Given the description of an element on the screen output the (x, y) to click on. 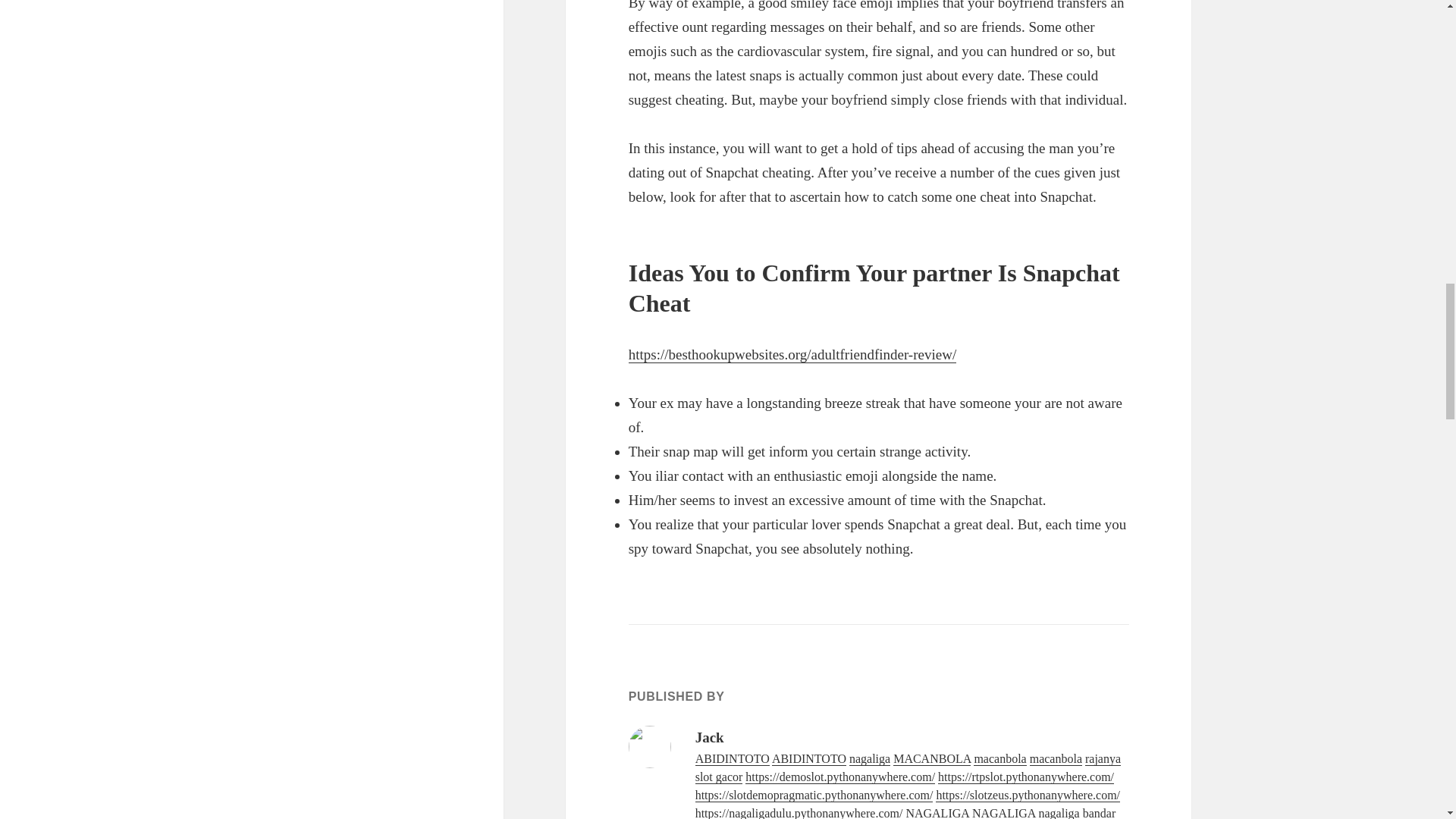
MACANBOLA (932, 758)
macanbola (1000, 758)
rajanya slot gacor (908, 767)
NAGALIGA (937, 812)
ABIDINTOTO (732, 758)
nagaliga (868, 758)
nagaliga bandar bola (905, 812)
macanbola (1055, 758)
ABIDINTOTO (808, 758)
NAGALIGA (1003, 812)
